Given the description of an element on the screen output the (x, y) to click on. 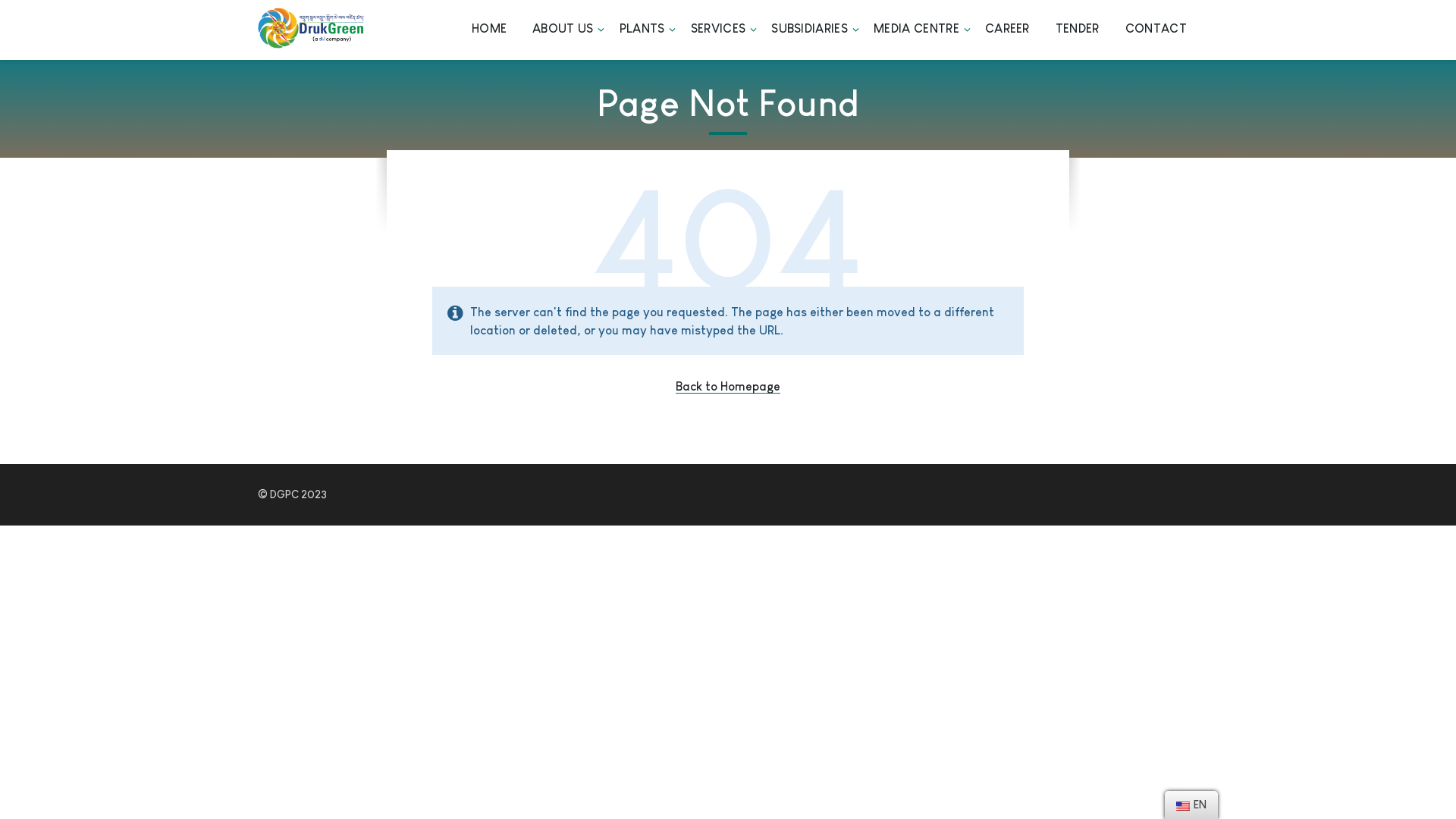
SUBSIDIARIES Element type: text (809, 29)
ABOUT US Element type: text (562, 29)
CONTACT Element type: text (1155, 29)
HOME Element type: text (488, 29)
Back to Homepage Element type: text (727, 385)
TENDER Element type: text (1077, 29)
MEDIA CENTRE Element type: text (916, 29)
English Element type: hover (1182, 805)
PLANTS Element type: text (642, 29)
CAREER Element type: text (1007, 29)
SERVICES Element type: text (718, 29)
